Given the description of an element on the screen output the (x, y) to click on. 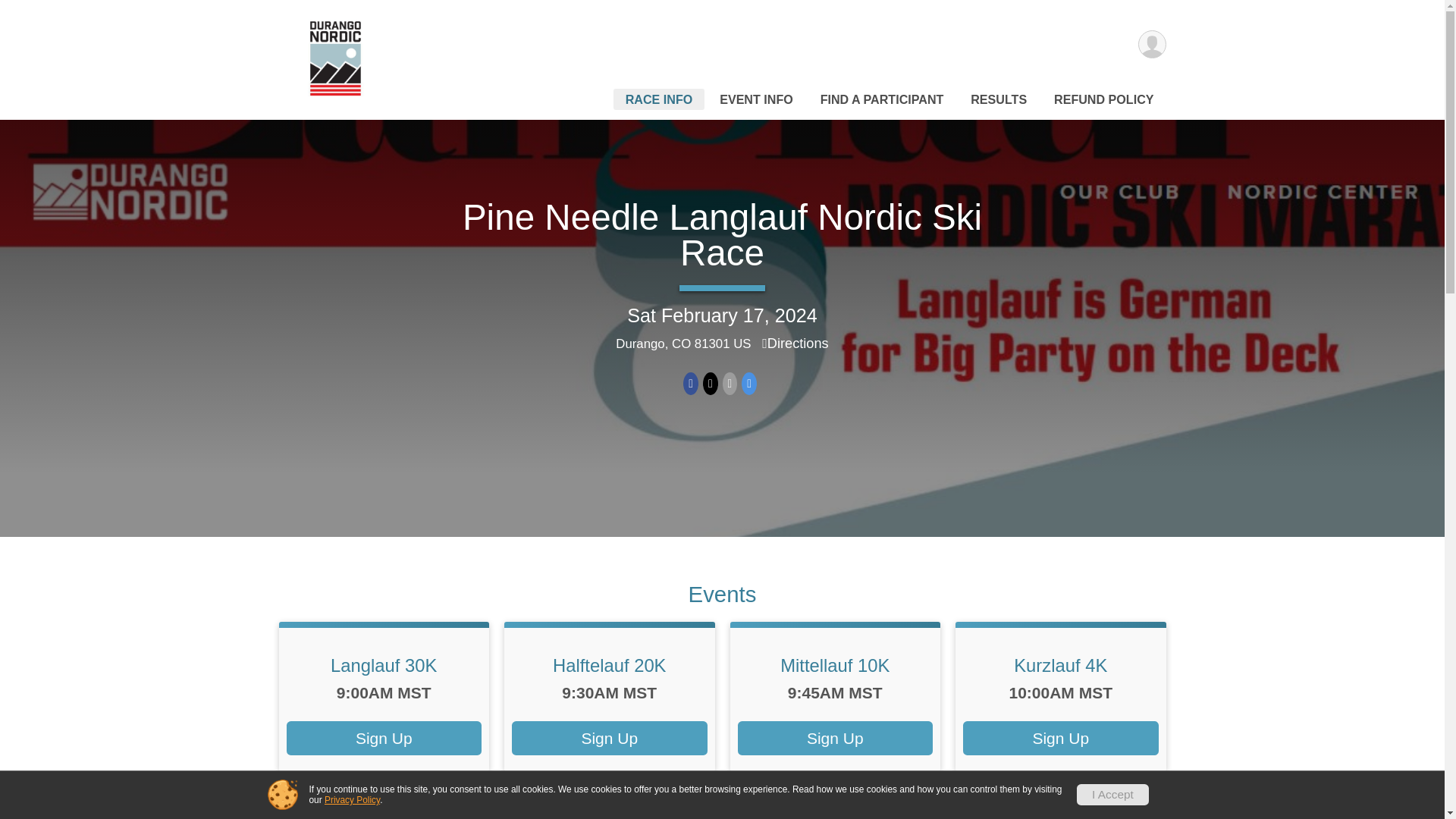
Langlauf 30K (383, 665)
Halftelauf 20K (609, 665)
Directions (794, 343)
RACE INFO (658, 98)
Pine Needle Langlauf Nordic Ski Race (722, 235)
Sign Up (609, 738)
Sign Up (383, 738)
REFUND POLICY (1103, 98)
Sign Up (834, 738)
FIND A PARTICIPANT (882, 98)
Kurzlauf 4K (1059, 665)
Sign Up (1060, 738)
Mittellauf 10K (834, 665)
EVENT INFO (755, 98)
RESULTS (997, 98)
